Given the description of an element on the screen output the (x, y) to click on. 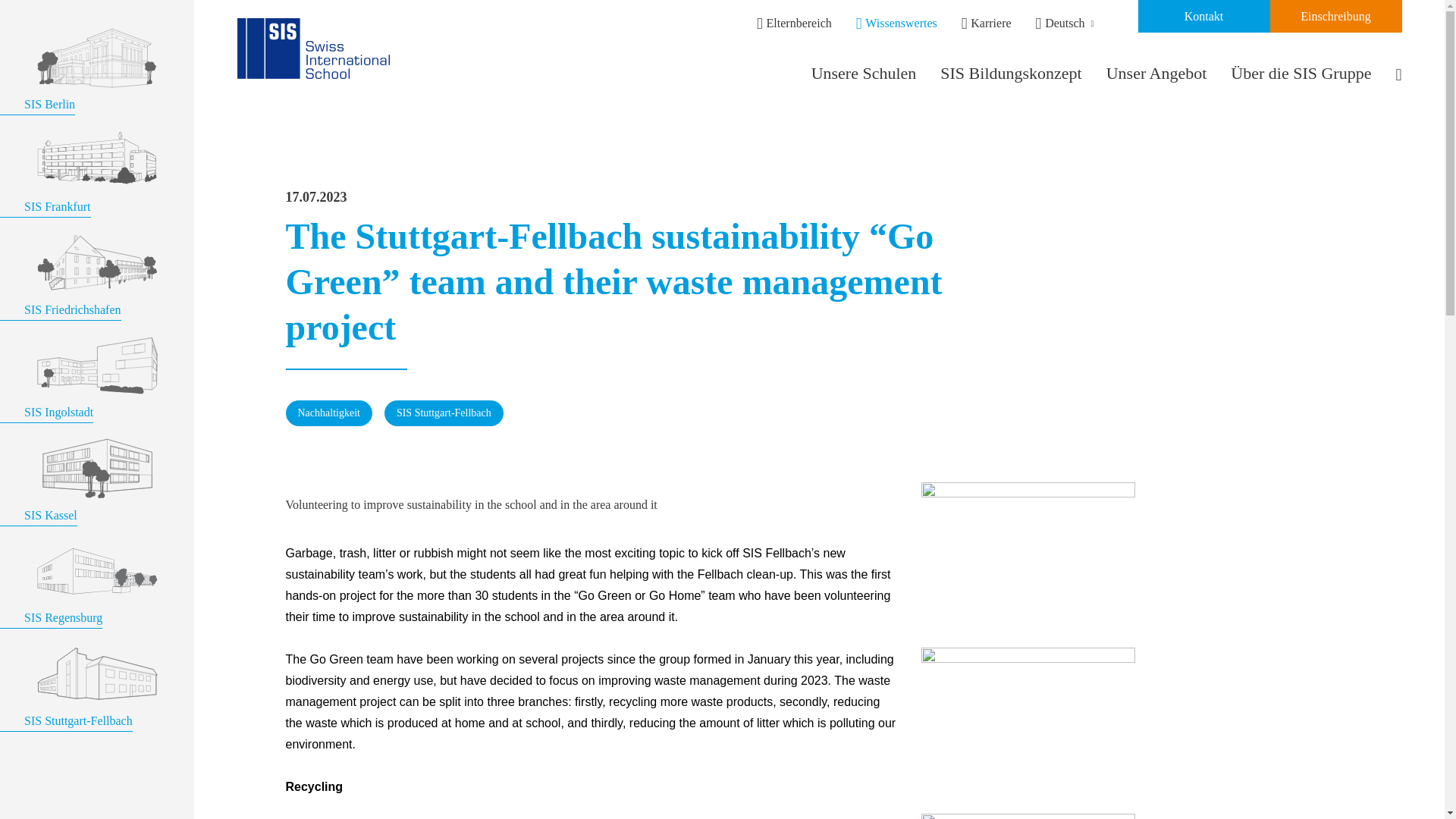
Kontakt (1203, 16)
SIS Berlin (96, 97)
Unser Angebot (1156, 72)
SIS Berlin (96, 97)
SIS Regensburg (96, 610)
SIS Stuttgart-Fellbach (96, 713)
Unsere Schulen (863, 72)
image (96, 263)
SIS Friedrichshafen (96, 302)
SIS Friedrichshafen (96, 302)
